Given the description of an element on the screen output the (x, y) to click on. 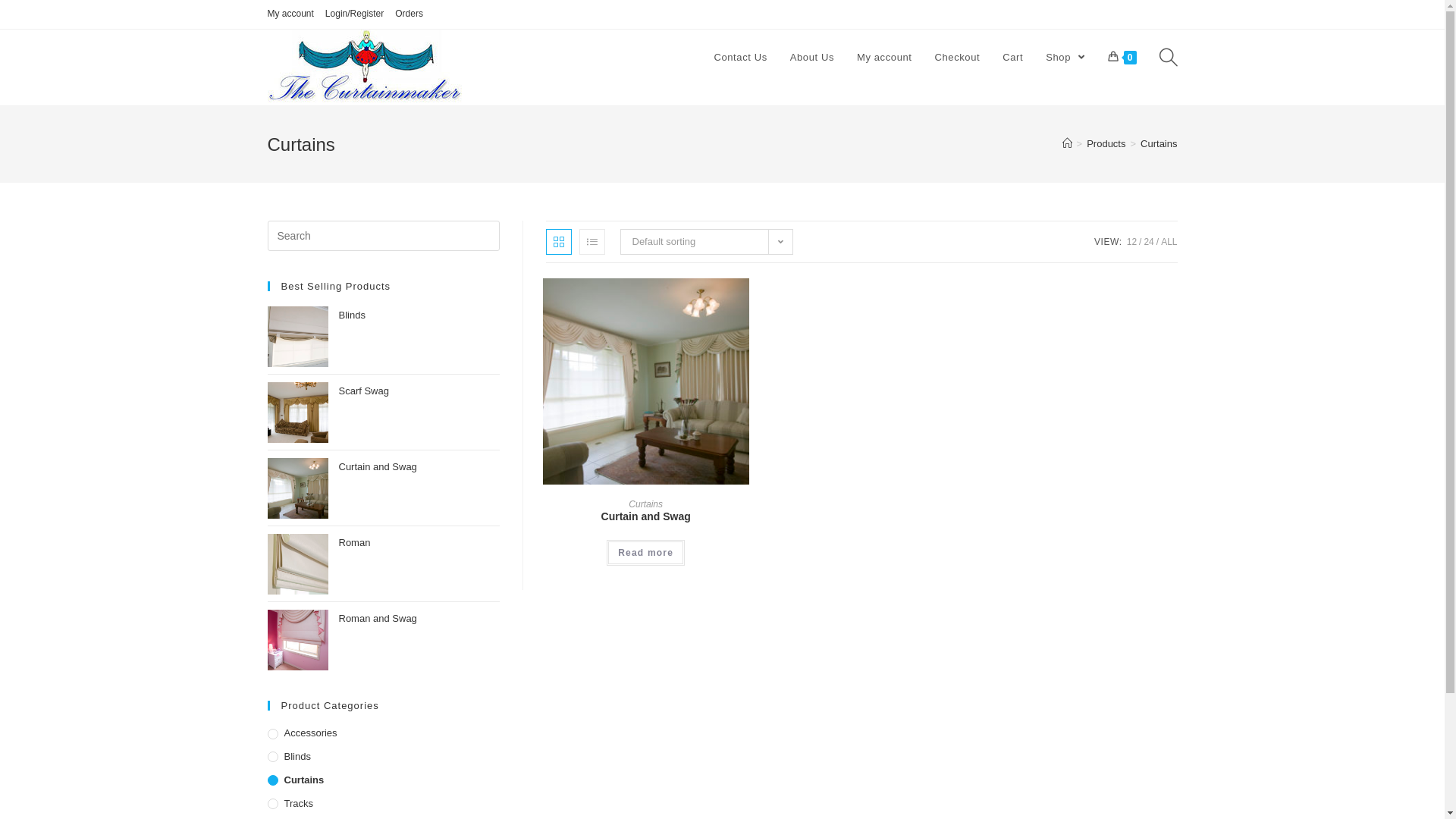
List view Element type: hover (592, 241)
Roman and Swag Element type: text (418, 619)
My account Element type: text (289, 14)
My account Element type: text (883, 57)
Read more Element type: text (645, 552)
Products Element type: text (1105, 143)
12 Element type: text (1131, 241)
Blinds Element type: text (418, 316)
ALL Element type: text (1168, 241)
About Us Element type: text (811, 57)
Orders Element type: text (409, 14)
Grid view Element type: hover (558, 241)
24 Element type: text (1148, 241)
Curtain and Swag Element type: text (645, 516)
Blinds Element type: text (382, 757)
Login/Register Element type: text (354, 14)
Curtains Element type: text (382, 780)
Scarf Swag Element type: text (418, 392)
0 Element type: text (1122, 57)
Cart Element type: text (1012, 57)
Curtains Element type: text (645, 503)
Checkout Element type: text (957, 57)
Accessories Element type: text (382, 733)
Contact Us Element type: text (740, 57)
Tracks Element type: text (382, 804)
Curtain and Swag Element type: text (418, 468)
Roman Element type: text (418, 543)
Curtains Element type: text (1158, 143)
Shop Element type: text (1065, 57)
